Given the description of an element on the screen output the (x, y) to click on. 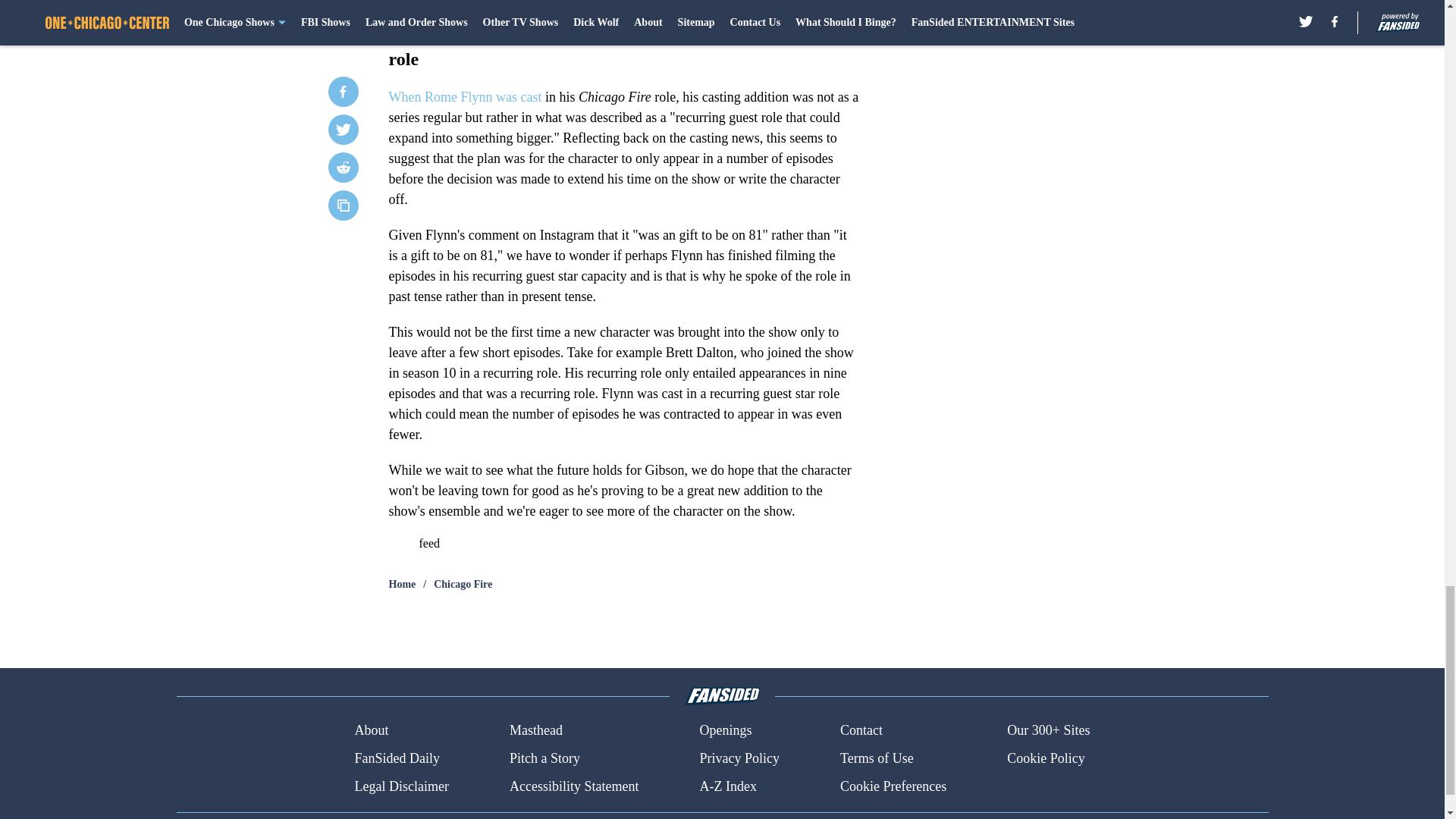
Masthead (535, 730)
Pitch a Story (544, 758)
About (370, 730)
Openings (724, 730)
Cookie Policy (1045, 758)
When Rome Flynn was cast (466, 96)
Home (401, 584)
Terms of Use (877, 758)
Contact (861, 730)
Privacy Policy (738, 758)
FanSided Daily (396, 758)
Legal Disclaimer (400, 786)
Chicago Fire (462, 584)
